Given the description of an element on the screen output the (x, y) to click on. 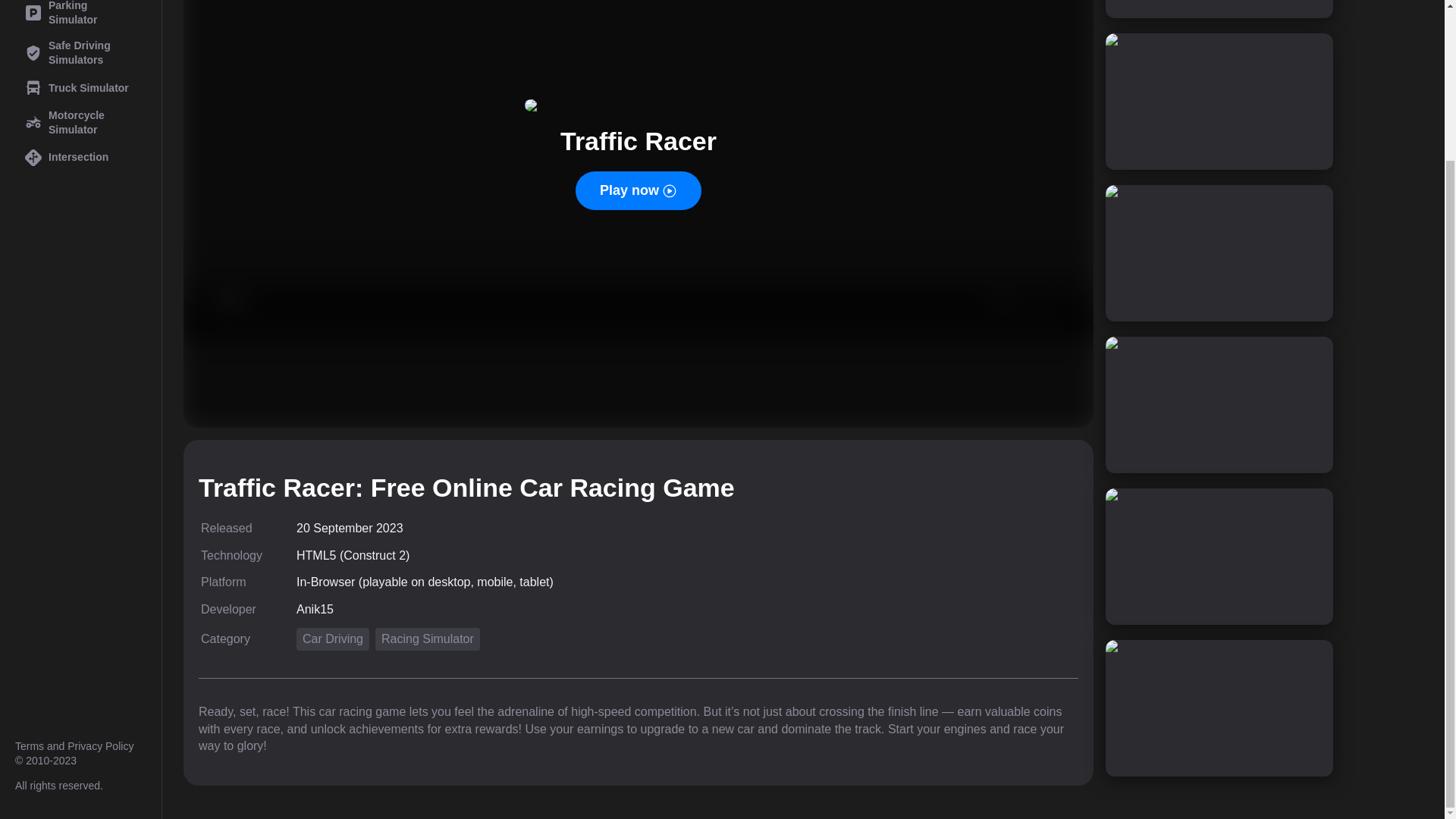
Truck Simulator (80, 87)
Safe Driving Simulators (80, 53)
Intersection (80, 157)
Car Driving (333, 639)
Motorcycle Simulator (80, 122)
Parking Simulator (80, 15)
Racing Simulator (427, 639)
Terms and Privacy Policy (73, 746)
